Given the description of an element on the screen output the (x, y) to click on. 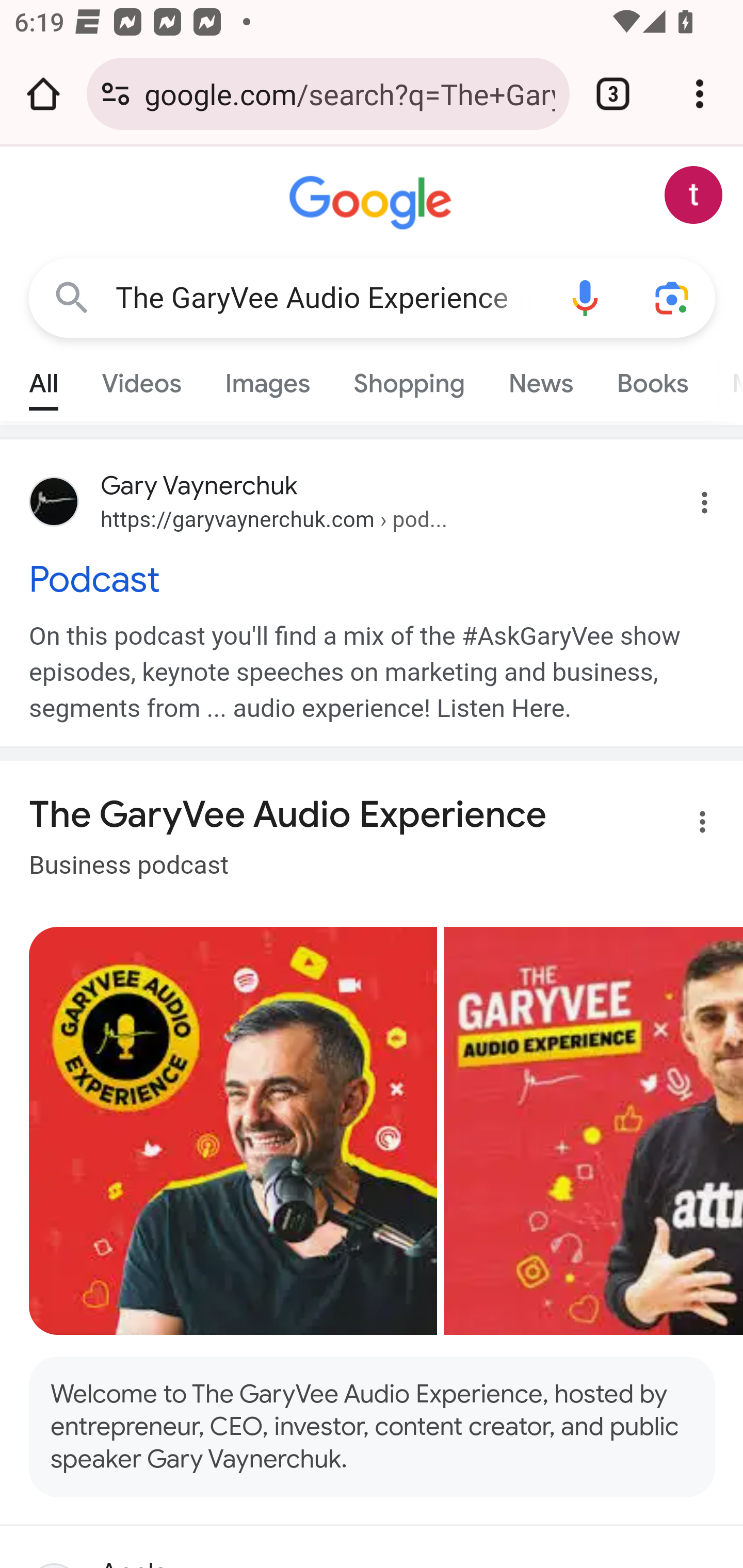
Open the home page (43, 93)
Connection is secure (115, 93)
Switch or close tabs (612, 93)
Customize and control Google Chrome (699, 93)
Google (372, 203)
Google Search (71, 296)
Search using your camera or photos (672, 296)
The GaryVee Audio Experience (328, 297)
Videos (141, 378)
Images (267, 378)
Shopping (408, 378)
News (540, 378)
Books (652, 378)
Podcast (372, 579)
More options (690, 826)
The GaryVee Audio Experience | Podcast on Spotify (233, 1130)
